Given the description of an element on the screen output the (x, y) to click on. 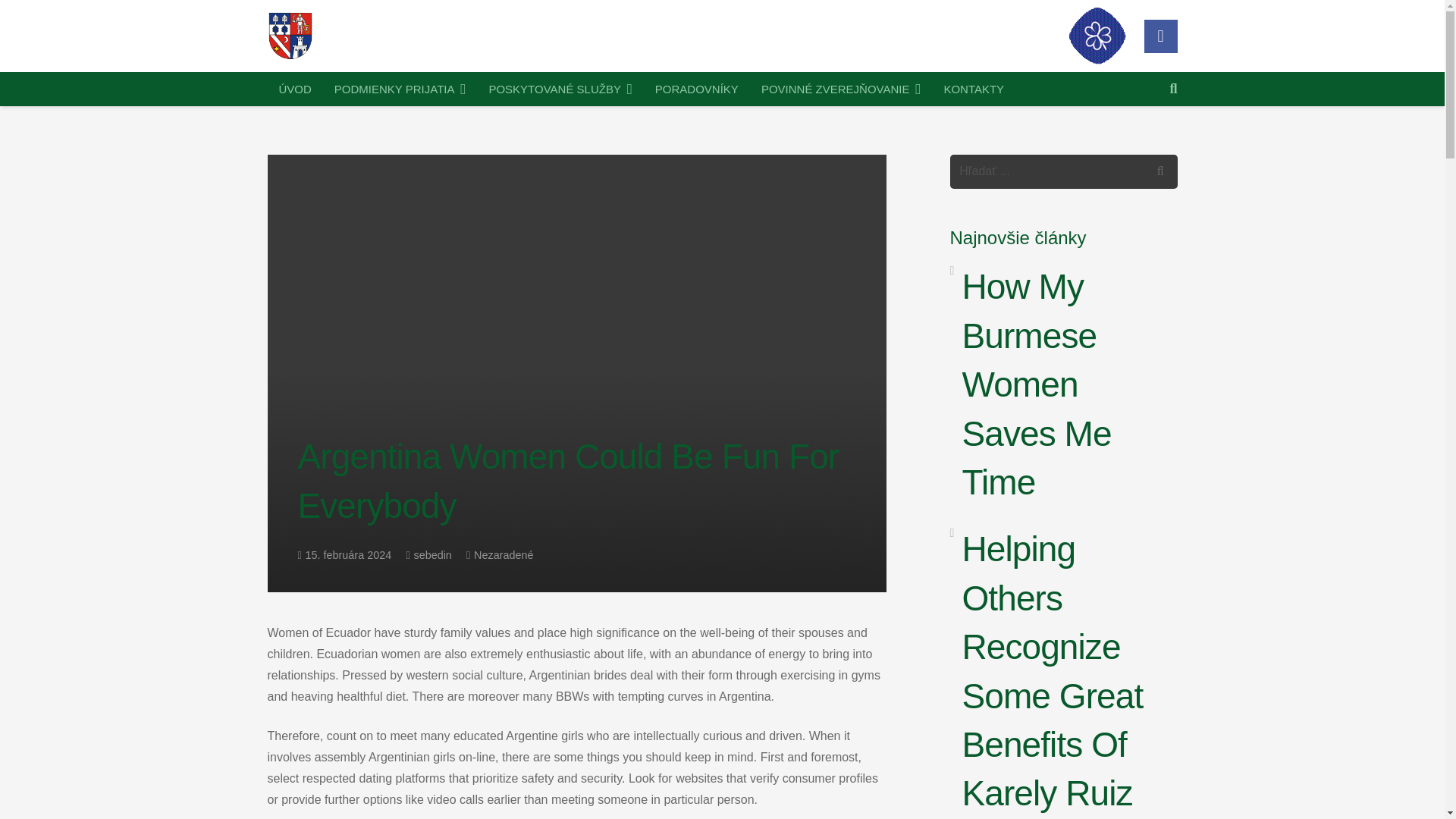
PODMIENKY PRIJATIA (400, 89)
KONTAKTY (972, 89)
Facebook (1159, 36)
sebedin (432, 554)
